Given the description of an element on the screen output the (x, y) to click on. 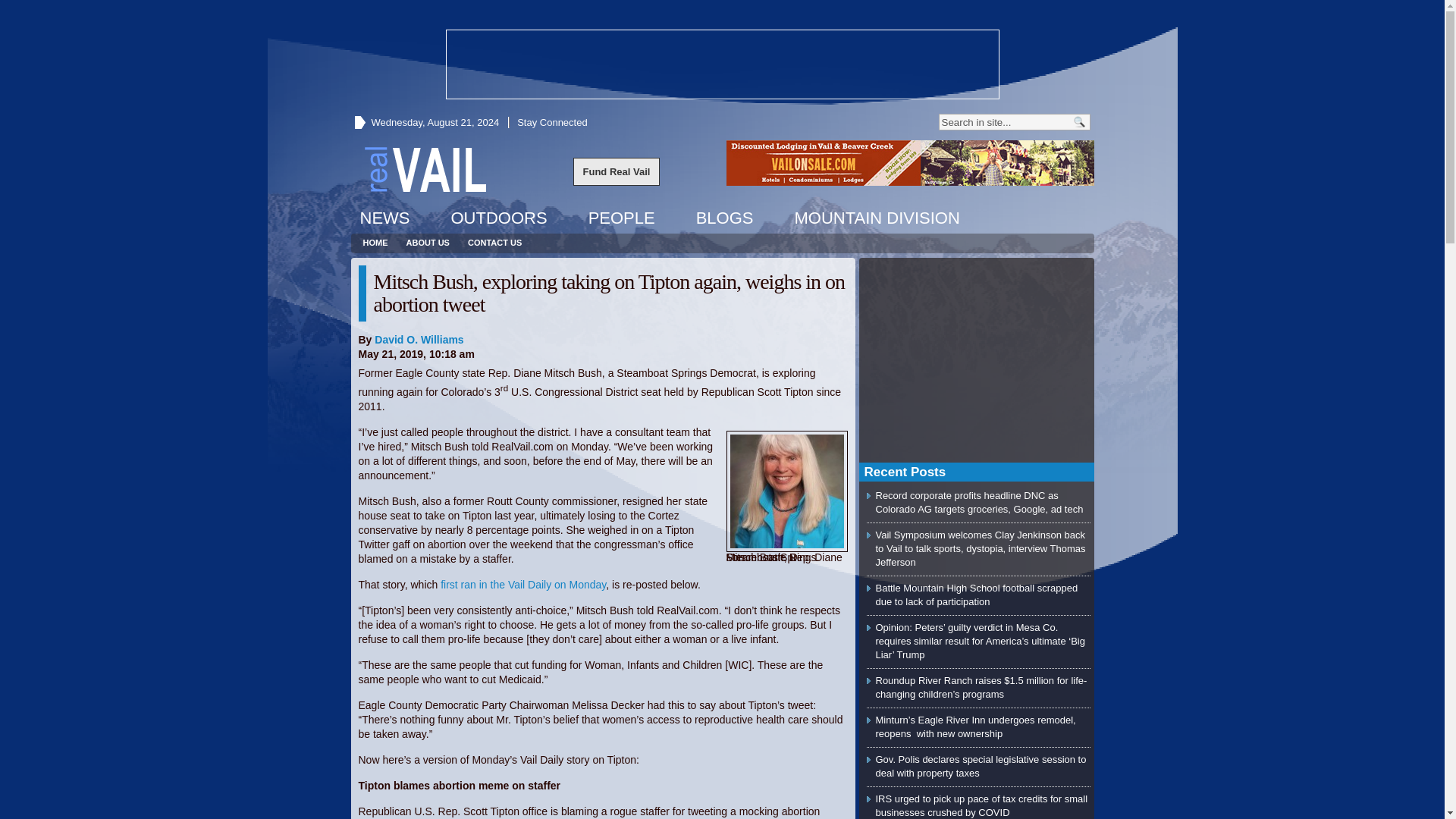
NEWS (384, 217)
Search in site... (1004, 121)
Vail Valley News, Guides, and Information (424, 168)
Stay Connected (552, 122)
PEOPLE (621, 217)
Posts by David O. Williams (418, 339)
CONTACT US (494, 242)
Fund Real Vail (617, 171)
MOUNTAIN DIVISION (876, 217)
Real Vail (424, 168)
